Given the description of an element on the screen output the (x, y) to click on. 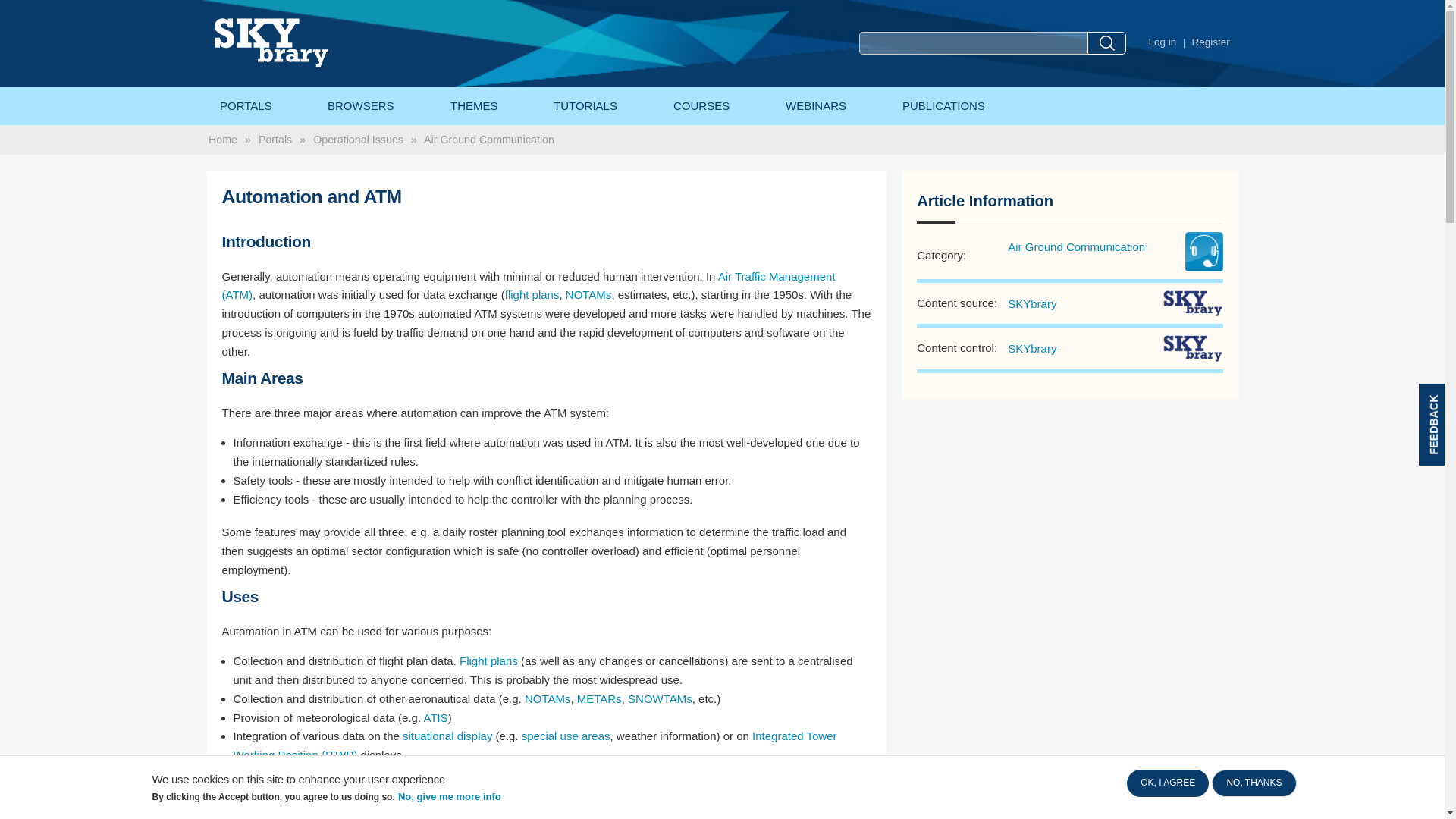
Enter the terms you wish to search for. (973, 42)
Home (302, 43)
Register (1211, 42)
PORTALS (244, 105)
Log in (1162, 42)
Search (1106, 42)
Search (1106, 42)
